Given the description of an element on the screen output the (x, y) to click on. 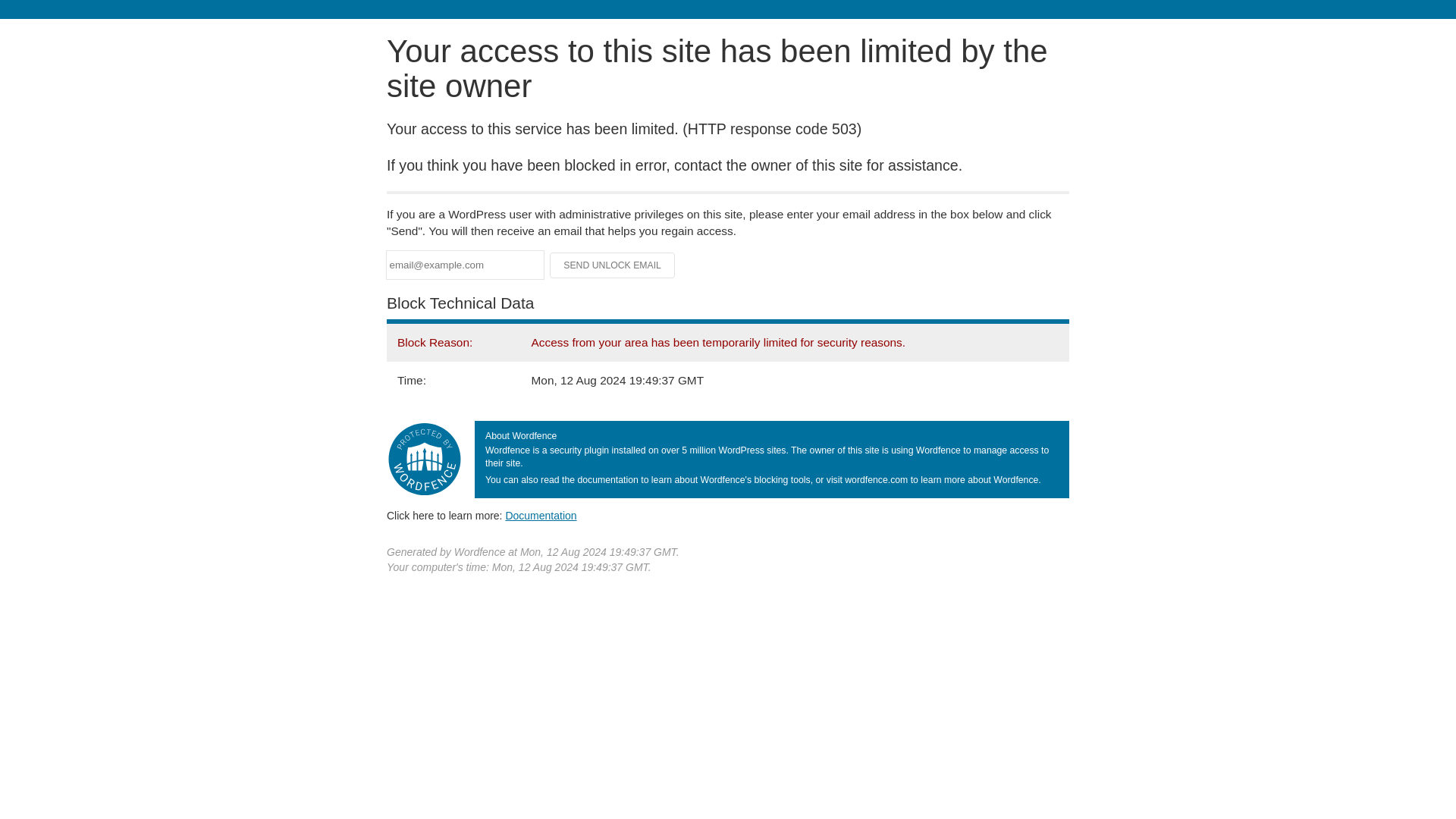
Documentation (540, 515)
Send Unlock Email (612, 265)
Send Unlock Email (612, 265)
